Given the description of an element on the screen output the (x, y) to click on. 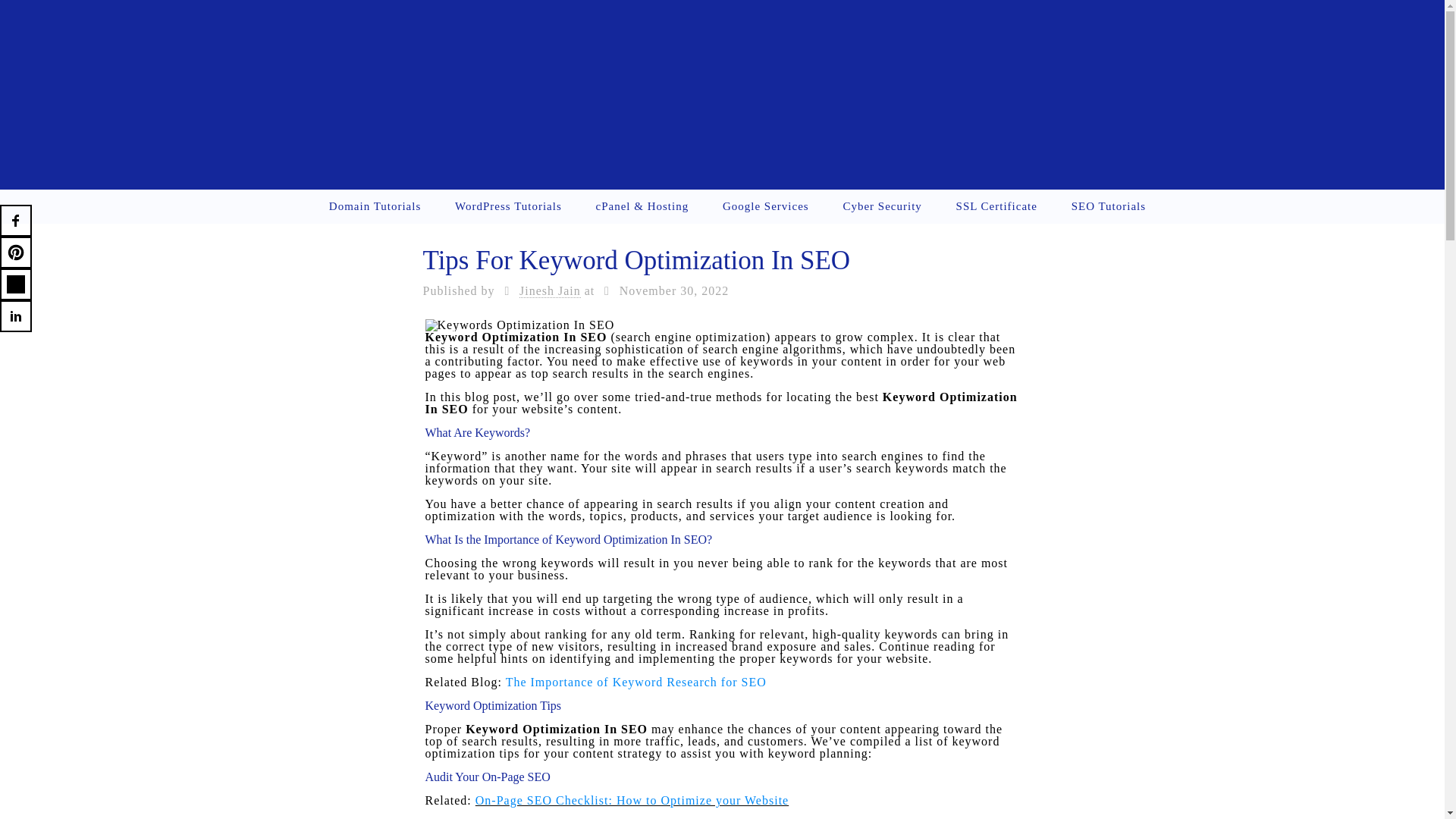
On-Page SEO Checklist: How to Optimize your Website (632, 799)
Google Services (765, 206)
Domain Tutorials (374, 206)
Tips For Keyword Optimization In SEO 1 (519, 325)
Cyber Security (882, 206)
SSL Certificate (996, 206)
Jinesh Jain (549, 291)
WordPress Tutorials (508, 206)
The Importance of Keyword Research for SEO (636, 681)
SEO Tutorials (1108, 206)
